Given the description of an element on the screen output the (x, y) to click on. 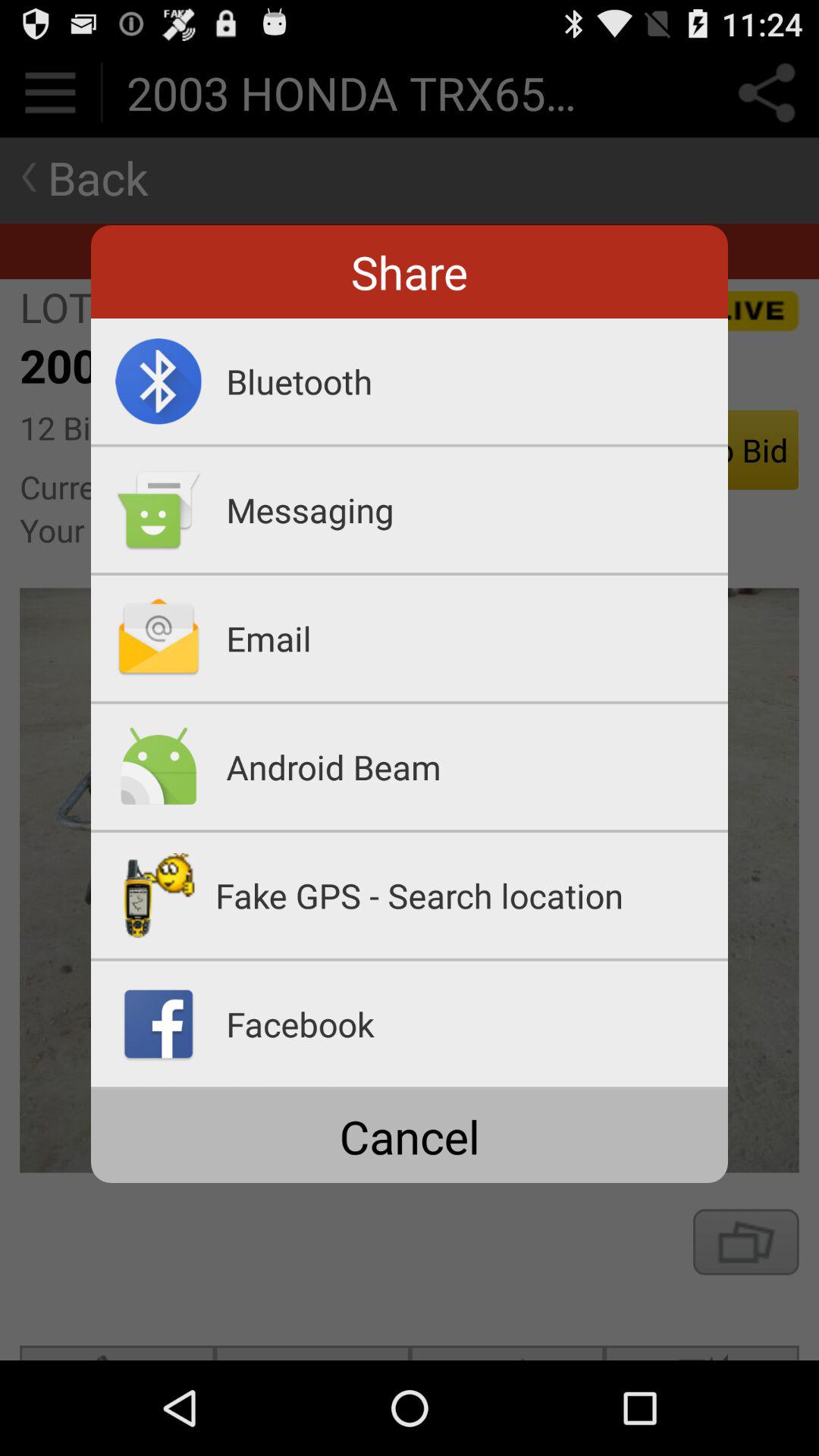
choose the app below the share app (477, 381)
